Given the description of an element on the screen output the (x, y) to click on. 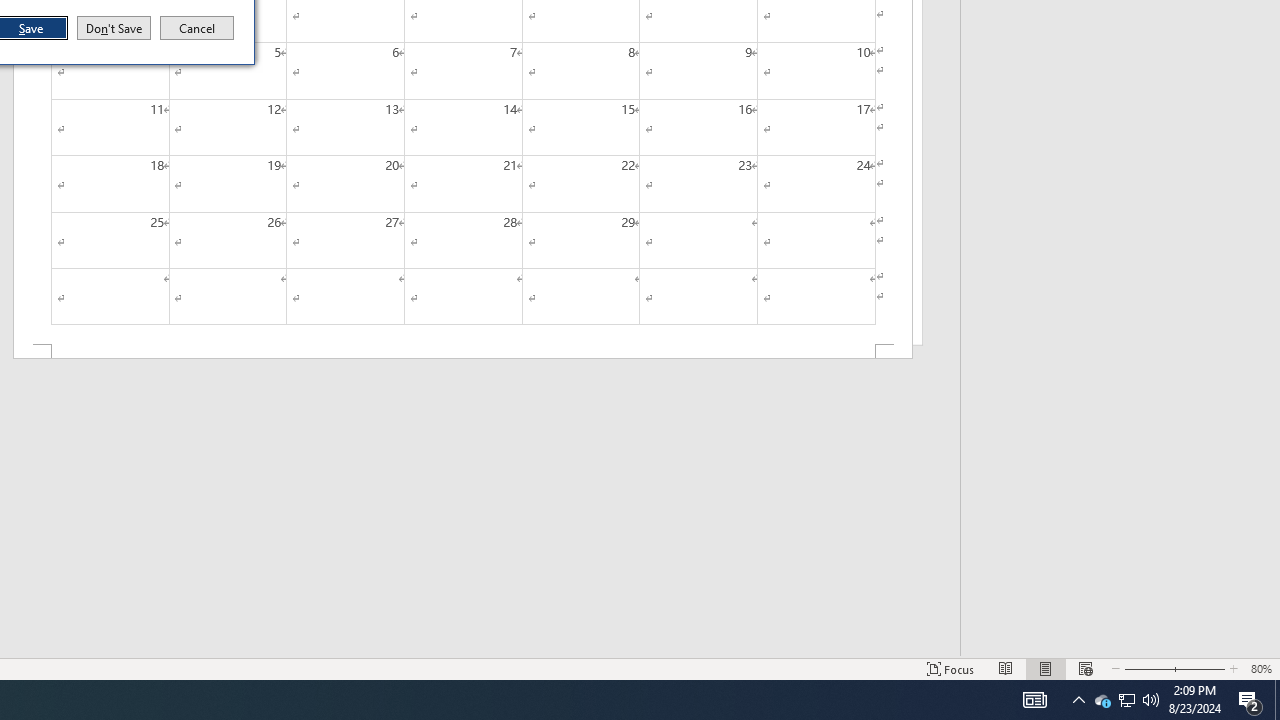
Notification Chevron (1102, 699)
Action Center, 2 new notifications (1078, 699)
Footer -Section 2- (1250, 699)
Q2790: 100% (462, 351)
Cancel (1126, 699)
